Given the description of an element on the screen output the (x, y) to click on. 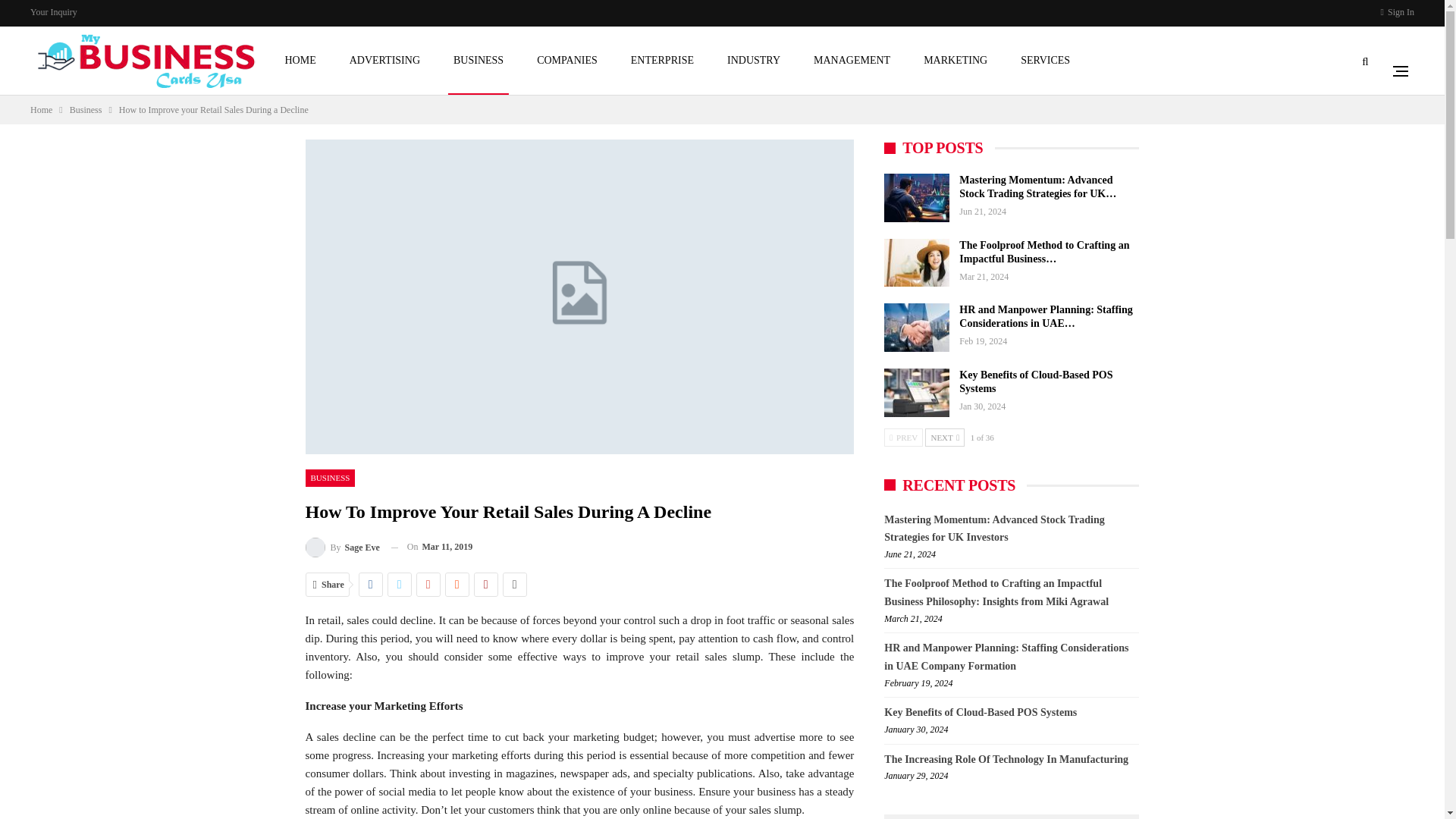
INDUSTRY (754, 60)
Your Inquiry (53, 11)
Browse Author Articles (341, 547)
ADVERTISING (384, 60)
MANAGEMENT (851, 60)
Sign In (1396, 12)
ENTERPRISE (662, 60)
BUSINESS (478, 60)
MARKETING (955, 60)
Home (41, 109)
Business (85, 109)
By Sage Eve (341, 547)
COMPANIES (566, 60)
BUSINESS (329, 477)
